Given the description of an element on the screen output the (x, y) to click on. 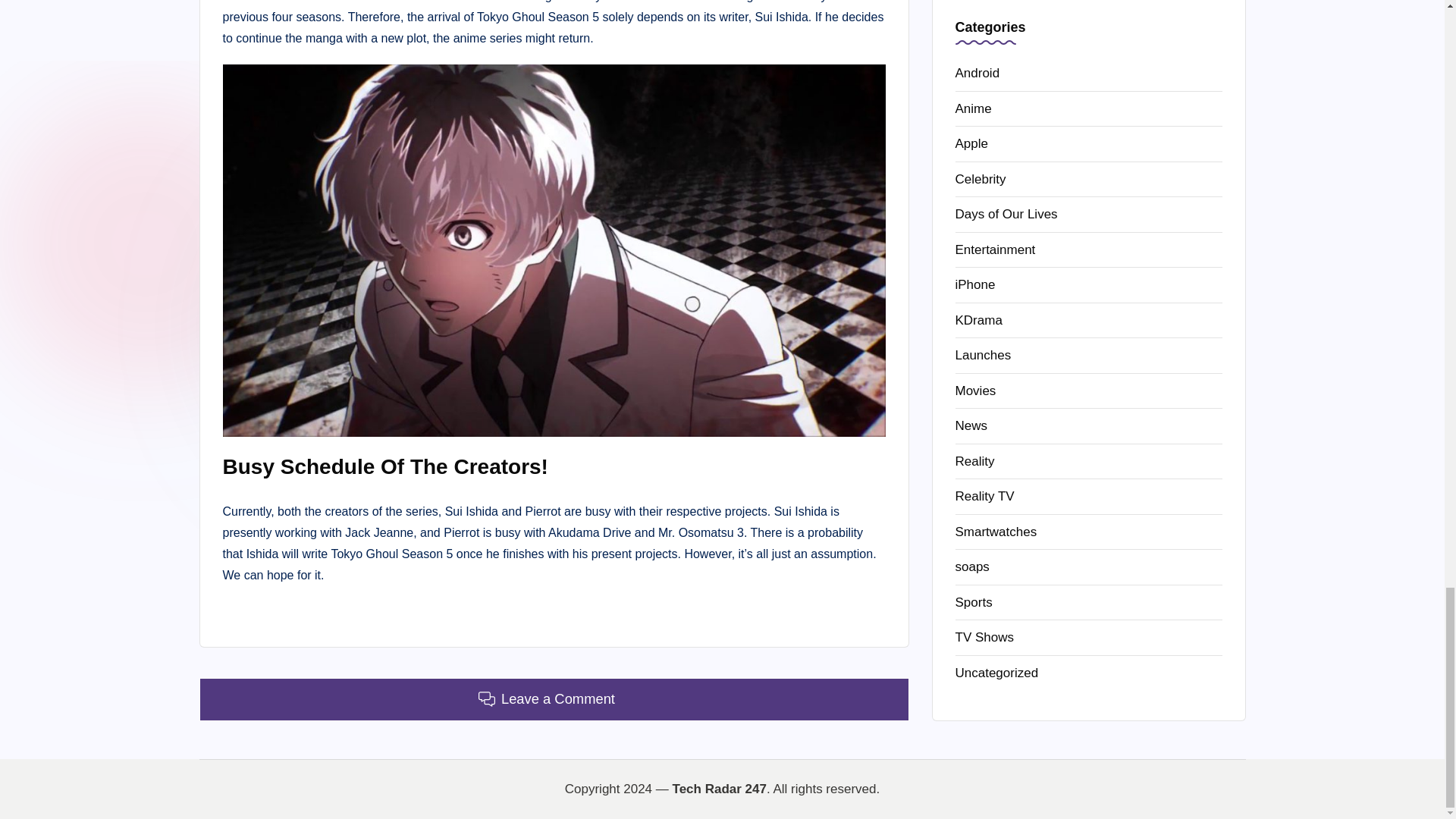
Leave a Comment (553, 699)
